Given the description of an element on the screen output the (x, y) to click on. 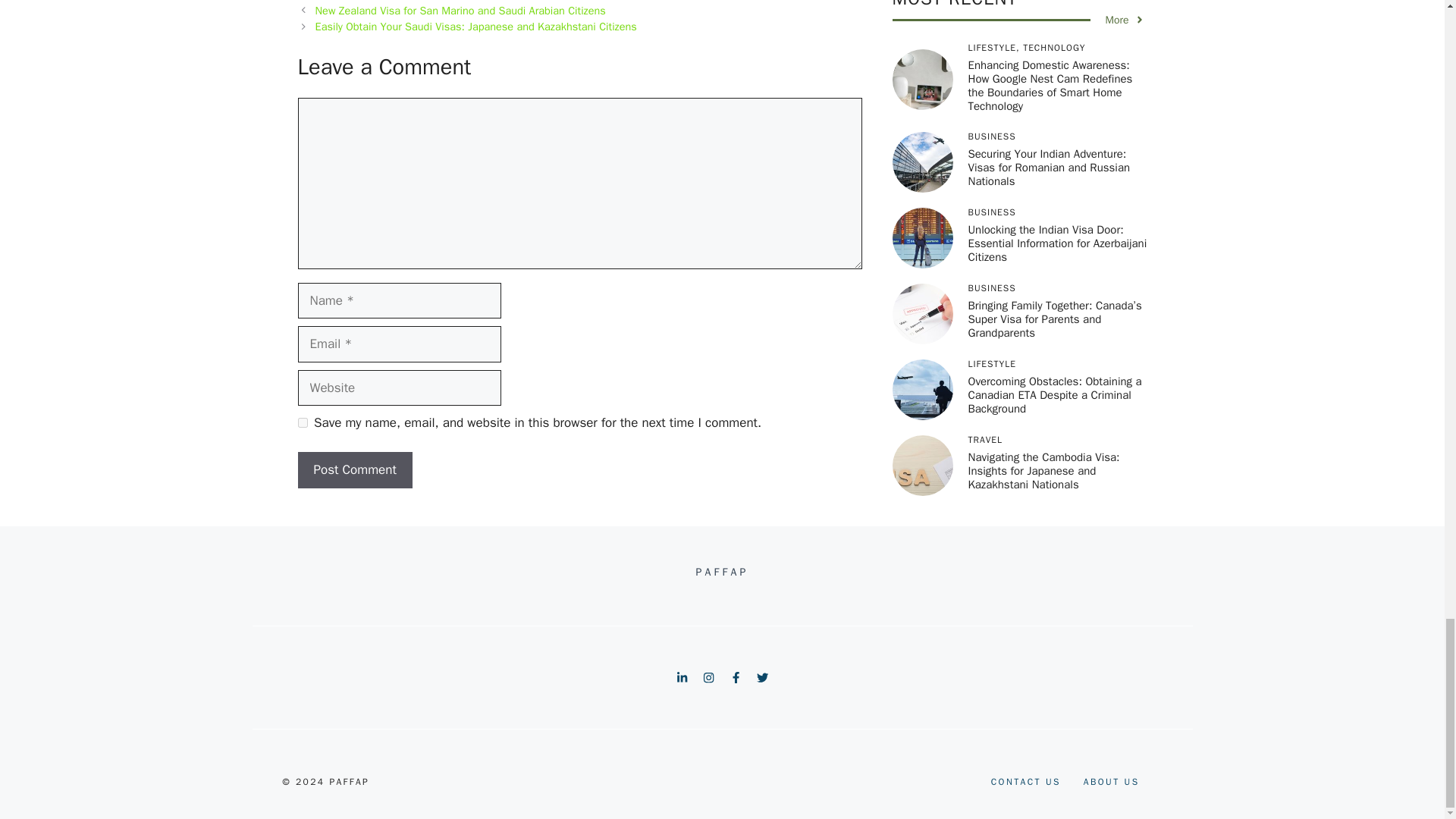
Post Comment (354, 470)
New Zealand Visa for San Marino and Saudi Arabian Citizens (460, 10)
yes (302, 422)
Post Comment (354, 470)
